Given the description of an element on the screen output the (x, y) to click on. 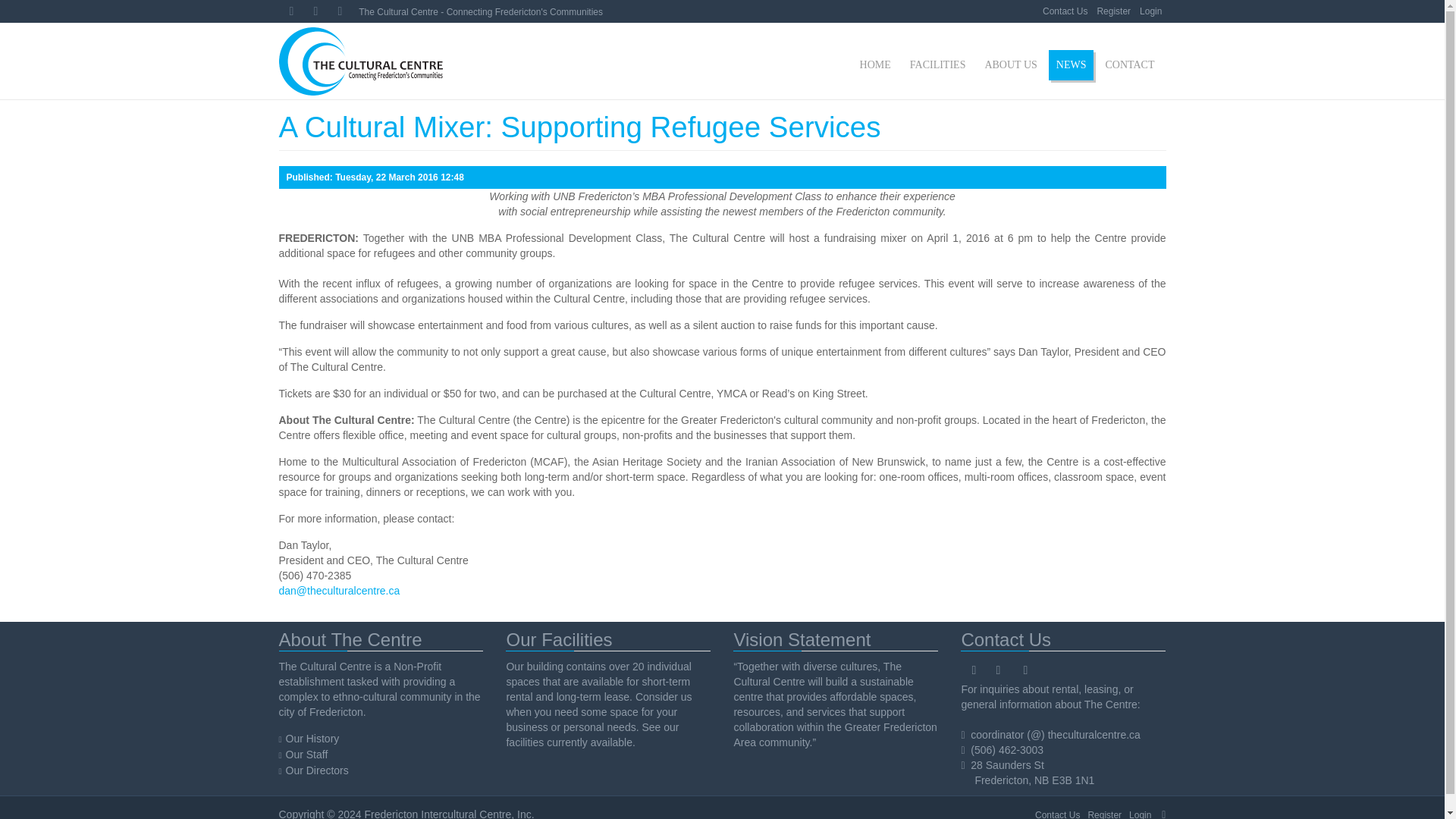
HOME (874, 64)
Login (1150, 11)
FACILITIES (938, 64)
Contact Us (1057, 813)
NEWS (1071, 64)
Register (1113, 11)
CONTACT (1129, 64)
Register (1104, 813)
facilities (524, 742)
Login (1140, 813)
